Given the description of an element on the screen output the (x, y) to click on. 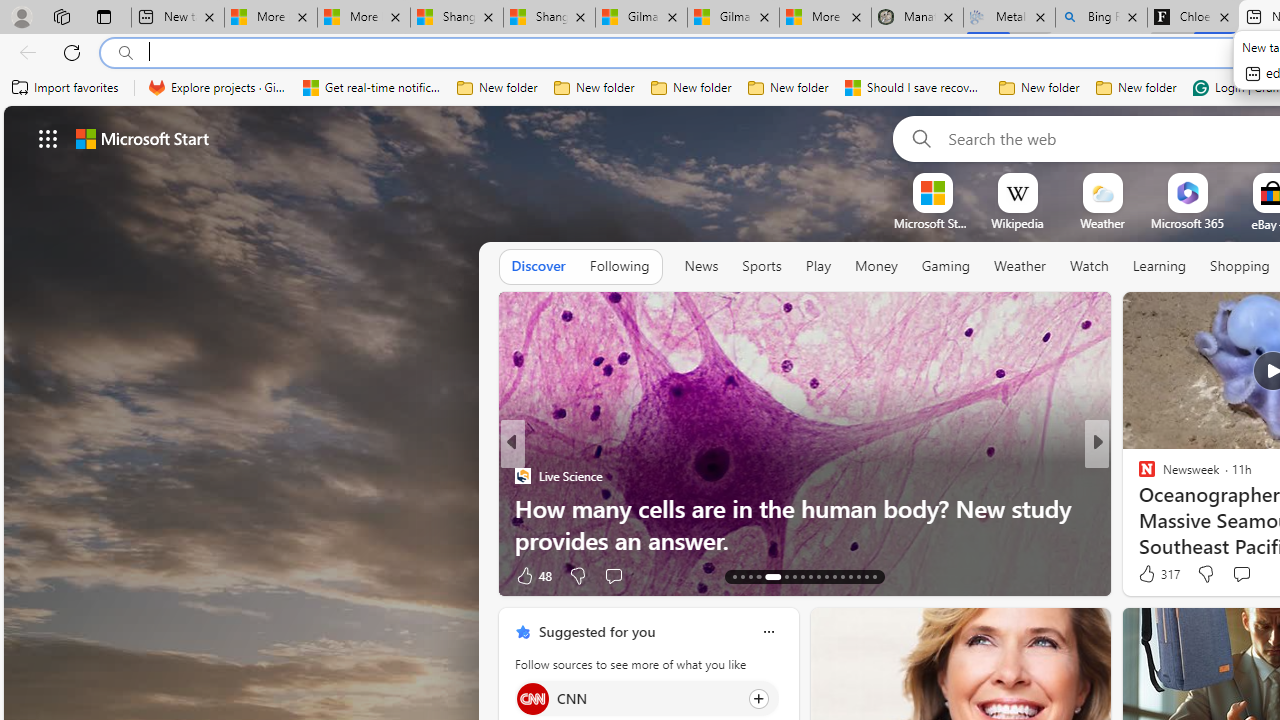
View comments 2 Comment (1228, 574)
AutomationID: tab-15 (750, 576)
View comments 297 Comment (1234, 575)
Not Your Boss Babe (1138, 475)
Watch (1089, 265)
Shopping (1240, 265)
More options (768, 631)
Learning (1159, 265)
Chloe Sorvino (1193, 17)
View comments 16 Comment (1244, 574)
Newsweek (1138, 475)
Suggested for you (596, 631)
